Given the description of an element on the screen output the (x, y) to click on. 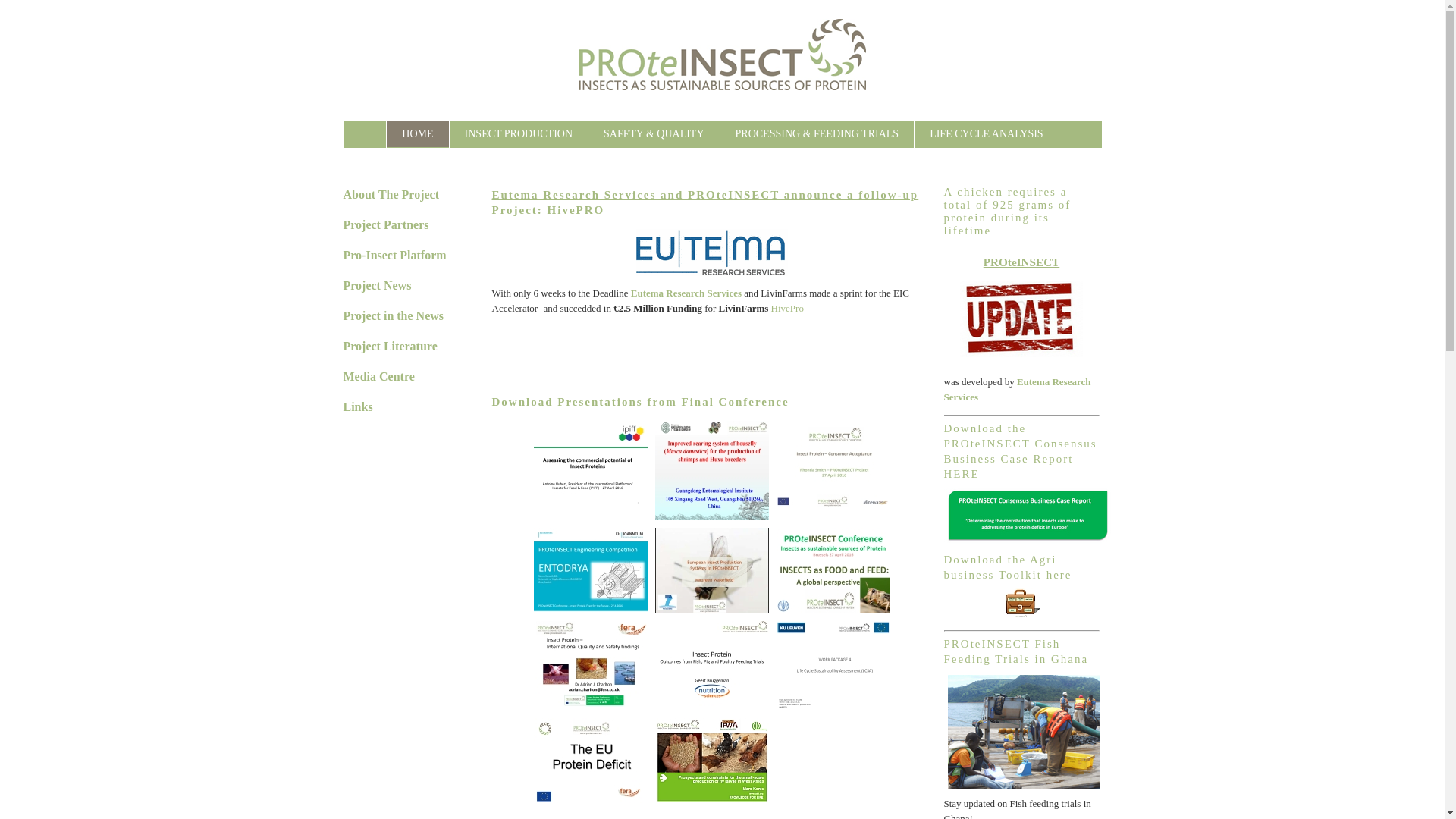
Eutema Research Services (685, 293)
Opens external link in new window (787, 308)
Opens external link in new window (1016, 389)
Project Literature (389, 345)
Opens external link in new window (685, 293)
HivePro (787, 308)
Project News (376, 285)
Media Centre (377, 376)
HOME (417, 133)
Pro-Insect Platform (393, 254)
Links (357, 406)
Project Partners (384, 224)
Project in the News (392, 315)
INSECT PRODUCTION (518, 133)
